Given the description of an element on the screen output the (x, y) to click on. 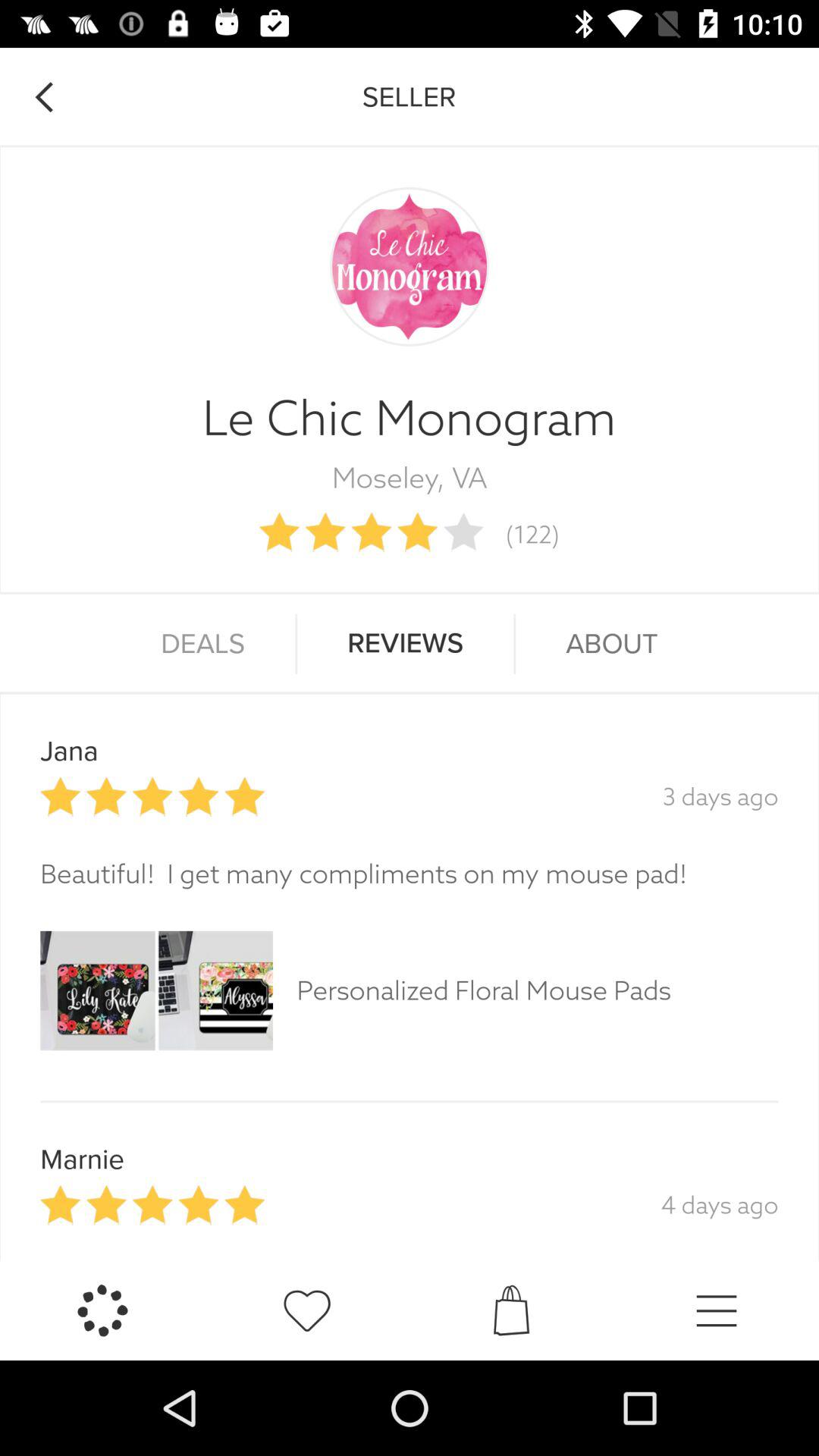
select deals (202, 643)
